Given the description of an element on the screen output the (x, y) to click on. 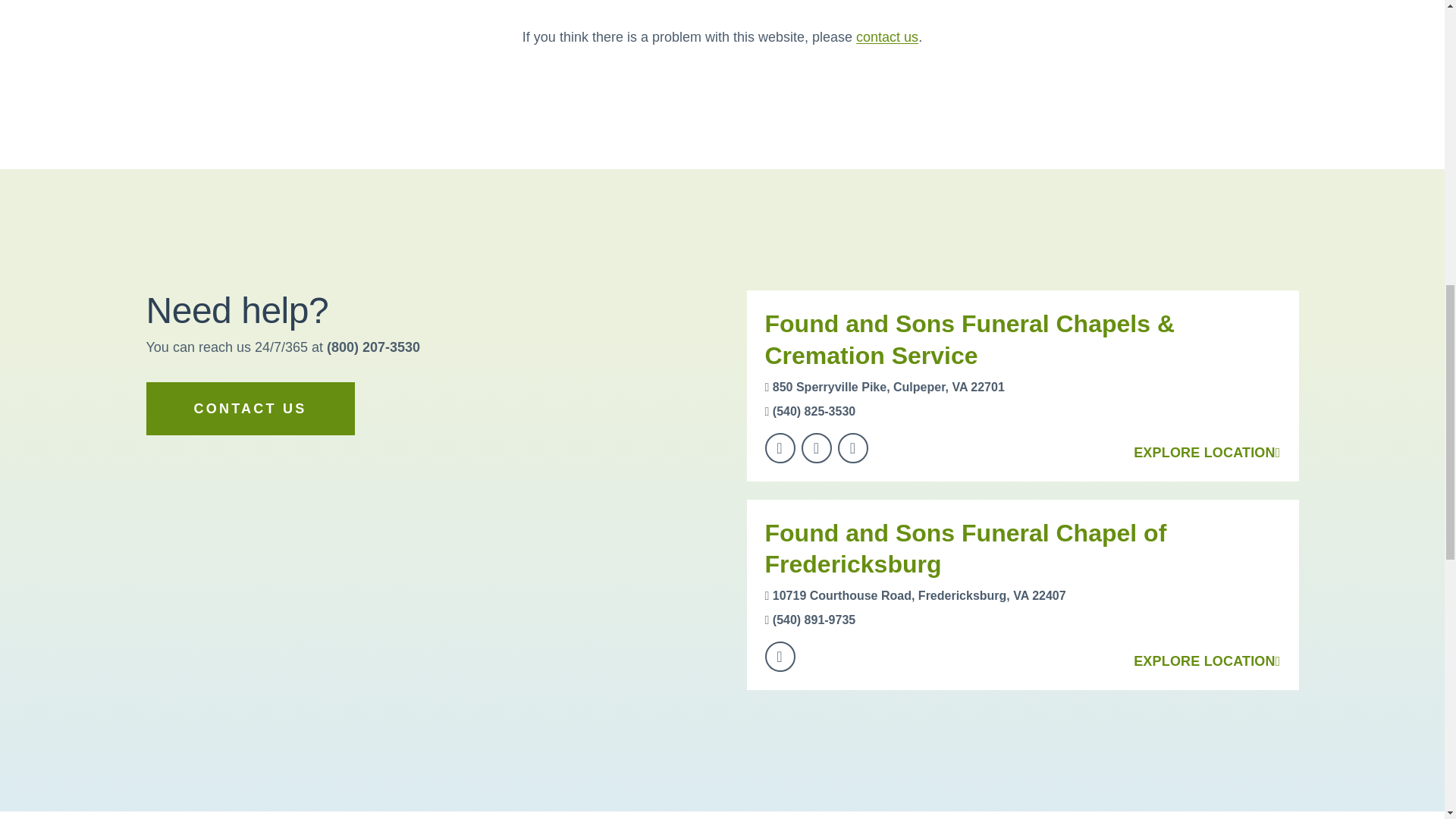
FOLLOW US ON INSTAGRAM (815, 448)
FOLLOW US ON FACEBOOK (779, 448)
CONTACT US (249, 408)
contact us (887, 37)
